Given the description of an element on the screen output the (x, y) to click on. 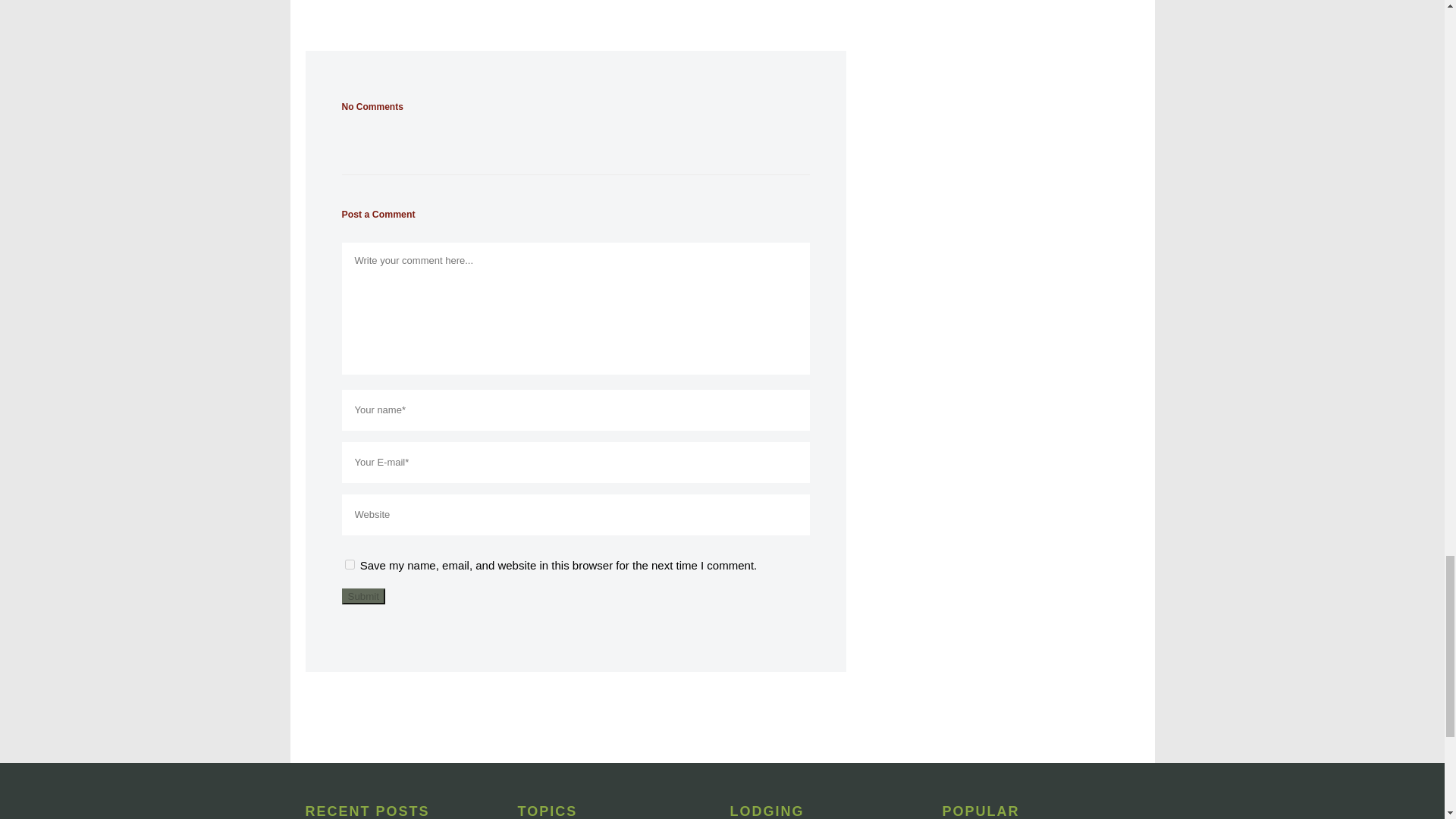
Submit (362, 596)
yes (348, 564)
